Given the description of an element on the screen output the (x, y) to click on. 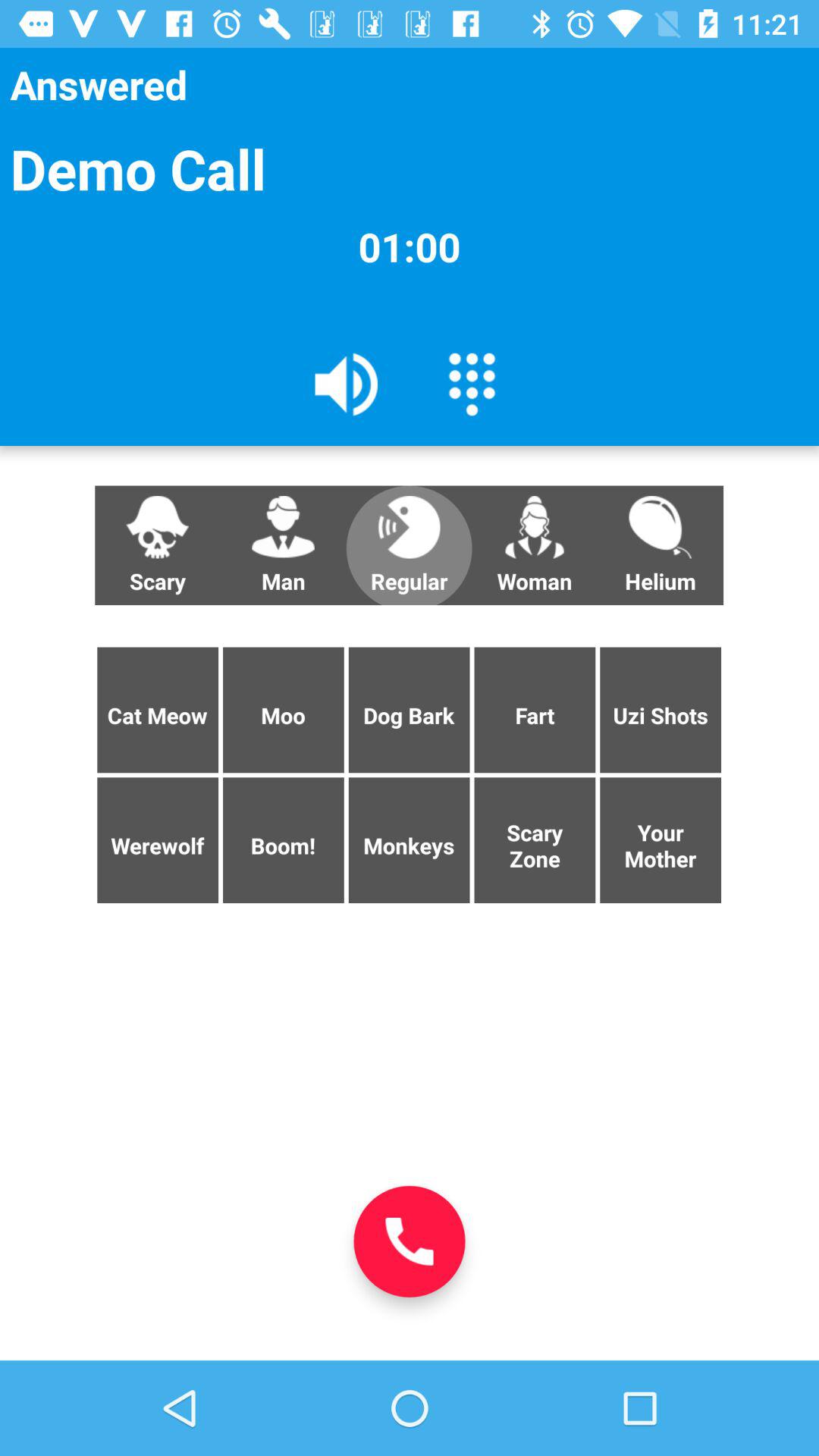
turn on item to the right of the regular button (534, 545)
